Given the description of an element on the screen output the (x, y) to click on. 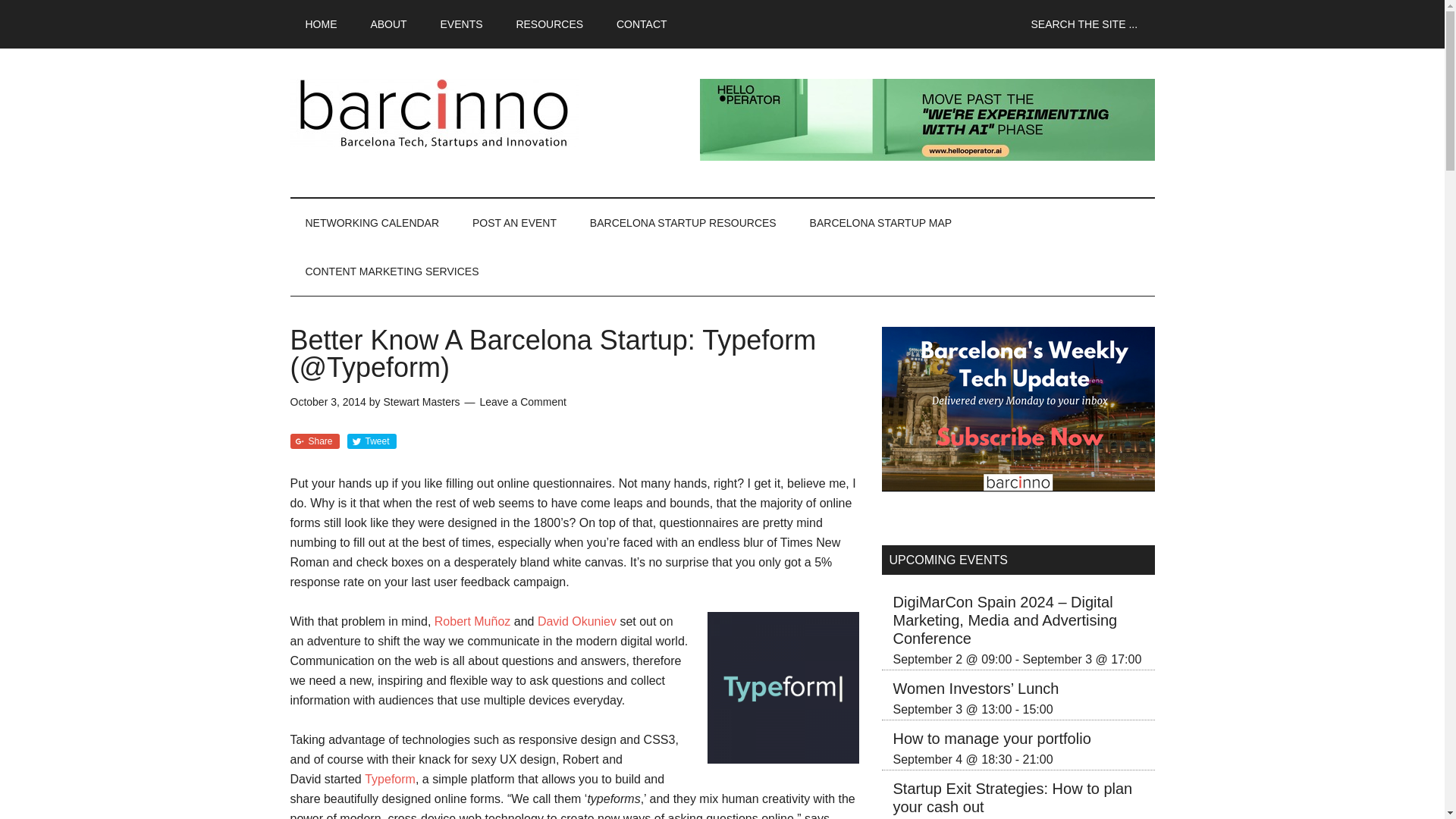
BARCELONA STARTUP MAP (881, 223)
NETWORKING CALENDAR (371, 223)
RESOURCES (549, 24)
CONTENT MARKETING SERVICES (391, 271)
Share (314, 441)
BARCELONA STARTUP RESOURCES (683, 223)
ABOUT (388, 24)
Stewart Masters (421, 401)
